Given the description of an element on the screen output the (x, y) to click on. 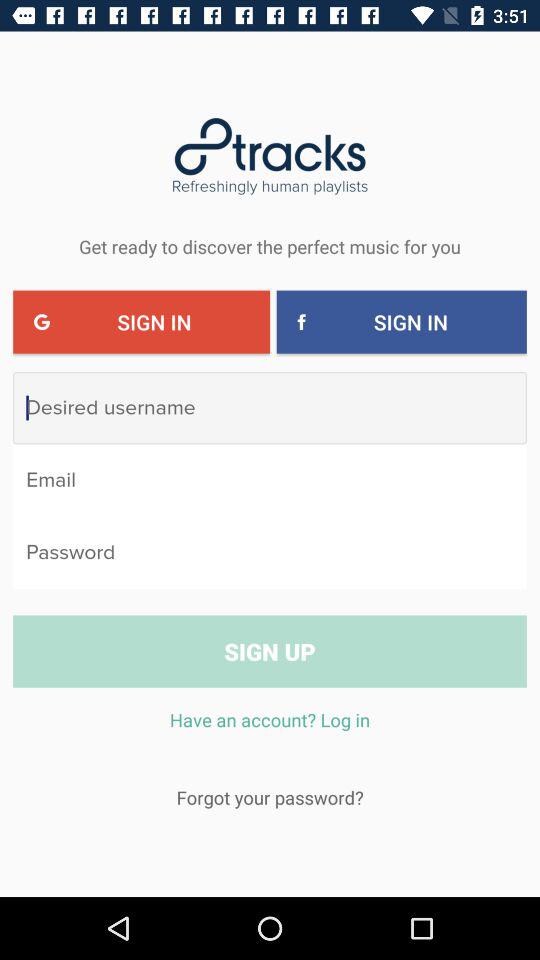
enter password (269, 552)
